Given the description of an element on the screen output the (x, y) to click on. 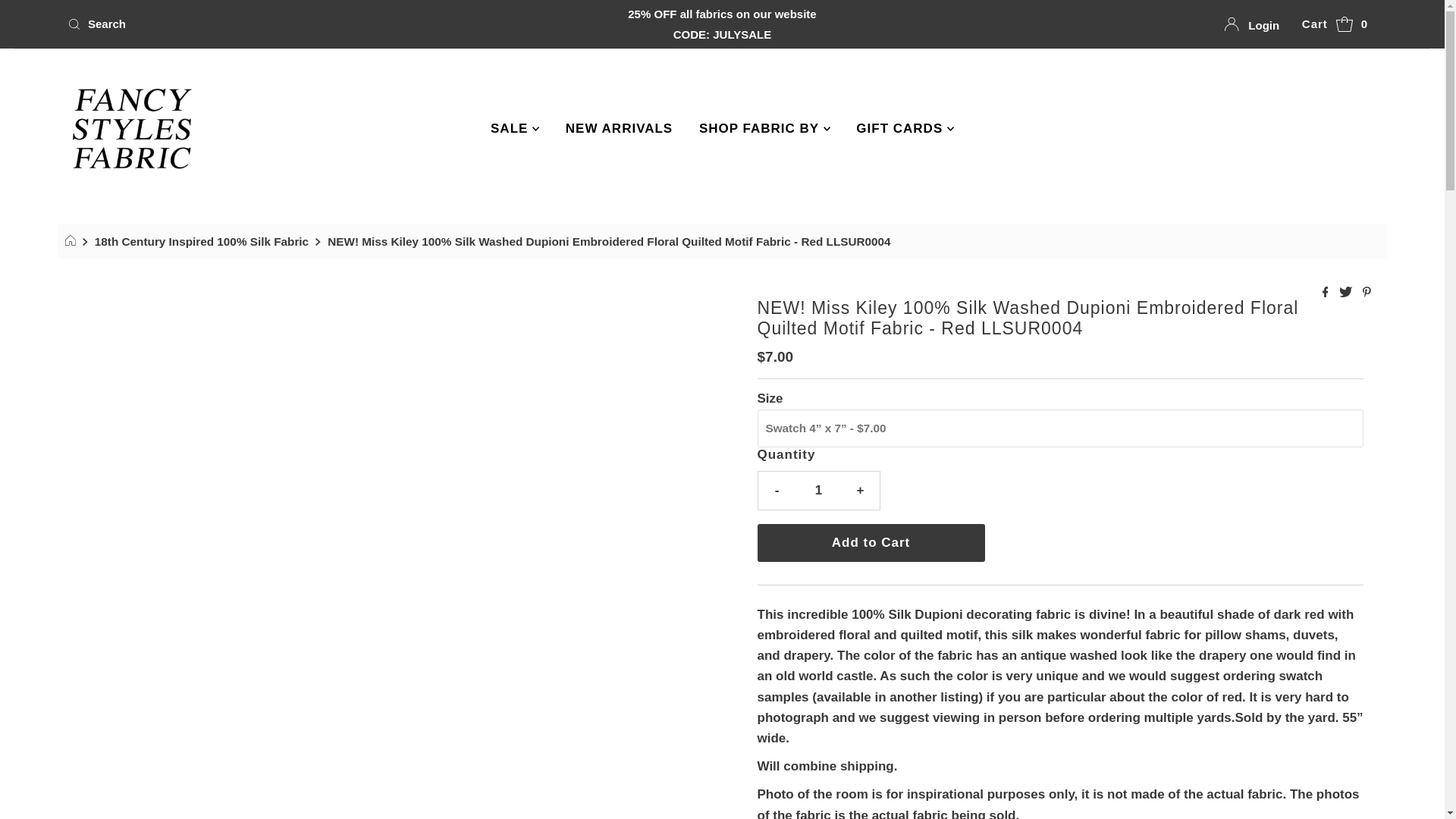
Back to the frontpage (72, 241)
1 (818, 490)
Share on Twitter (1347, 292)
Share on Facebook (1327, 292)
Share on Pinterest (1366, 292)
Add to Cart (870, 542)
